Given the description of an element on the screen output the (x, y) to click on. 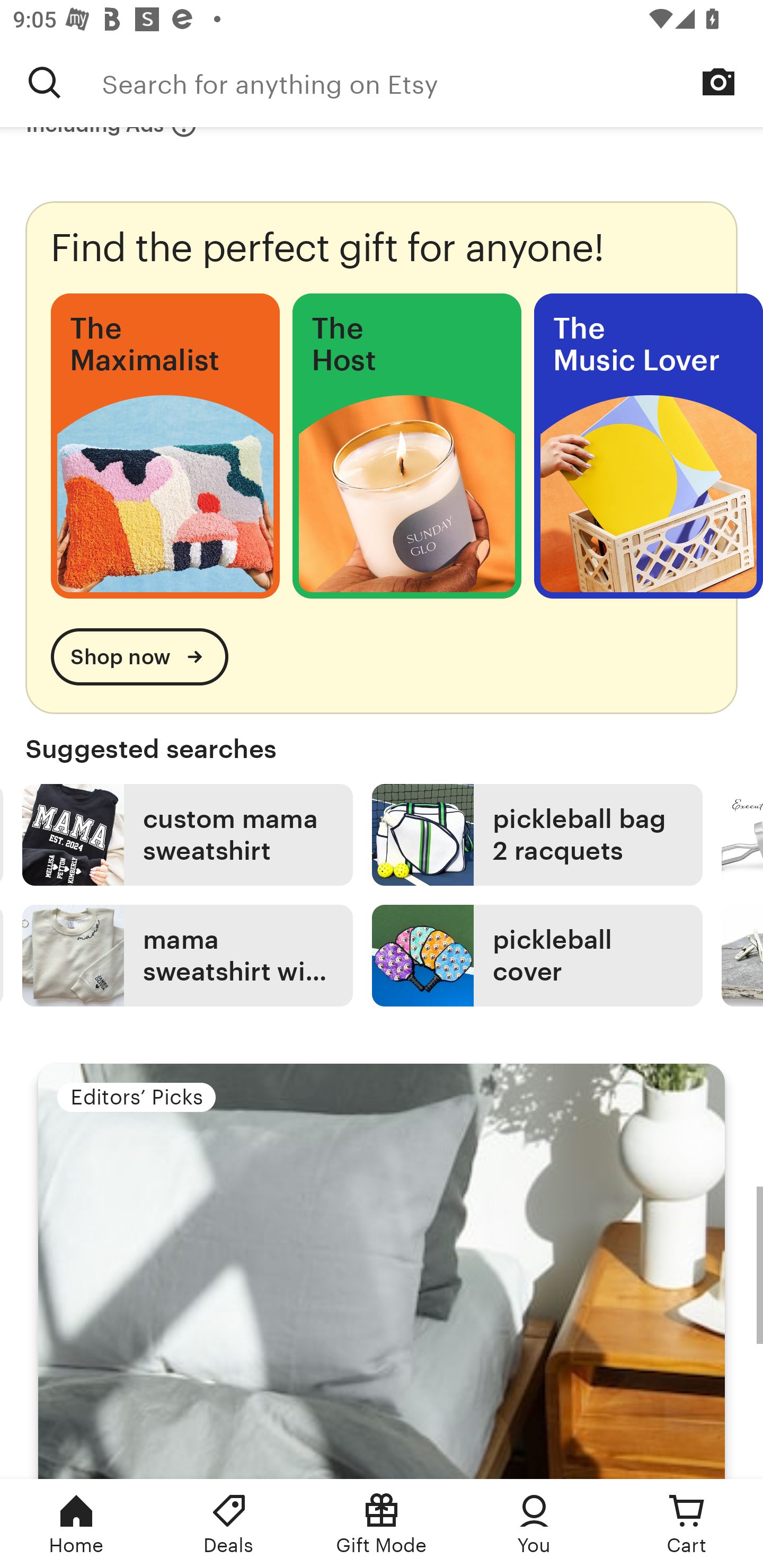
Search for anything on Etsy (44, 82)
Search by image (718, 81)
Search for anything on Etsy (432, 82)
Find the perfect gift for anyone! Shop now (381, 456)
The Maximalist (165, 445)
The Host (406, 445)
The Music Lover (648, 445)
Shop now (139, 656)
Suggested searches (381, 748)
custom mama sweatshirt (187, 834)
pickleball bag 2 racquets (537, 834)
mama sweatshirt with kid name (187, 955)
pickleball cover (537, 955)
Editors’ Picks (381, 1270)
Deals (228, 1523)
Gift Mode (381, 1523)
You (533, 1523)
Cart (686, 1523)
